Given the description of an element on the screen output the (x, y) to click on. 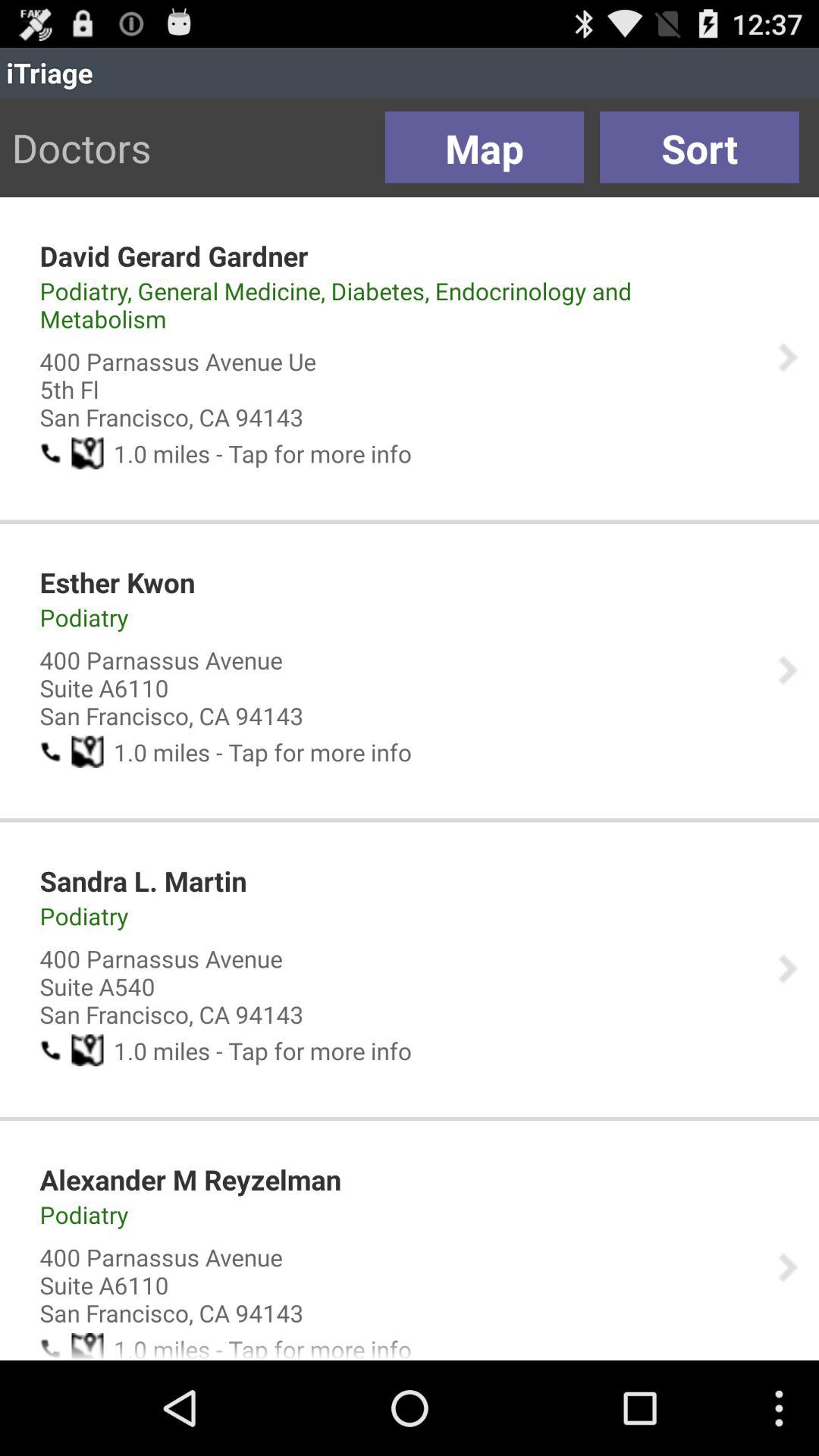
turn on the item below 1.0 icon (190, 1179)
